Given the description of an element on the screen output the (x, y) to click on. 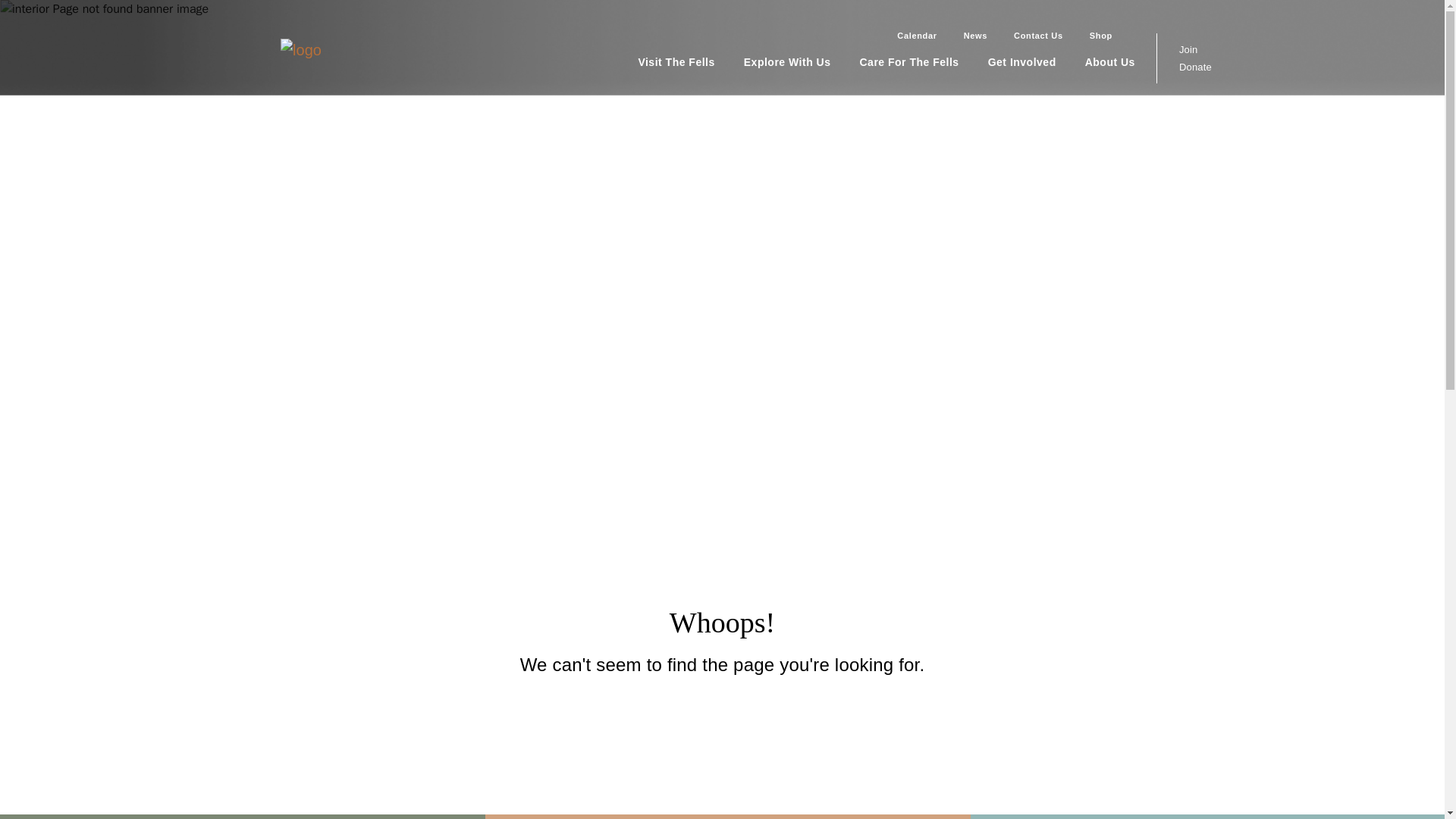
Contact Us (1030, 35)
Visit The Fells (689, 62)
News (968, 35)
Explore With Us (802, 62)
Search (1129, 35)
Care for the Fells (924, 62)
Shop (1093, 35)
Calendar (909, 35)
About Us (1123, 62)
Get Involved (1036, 62)
